Given the description of an element on the screen output the (x, y) to click on. 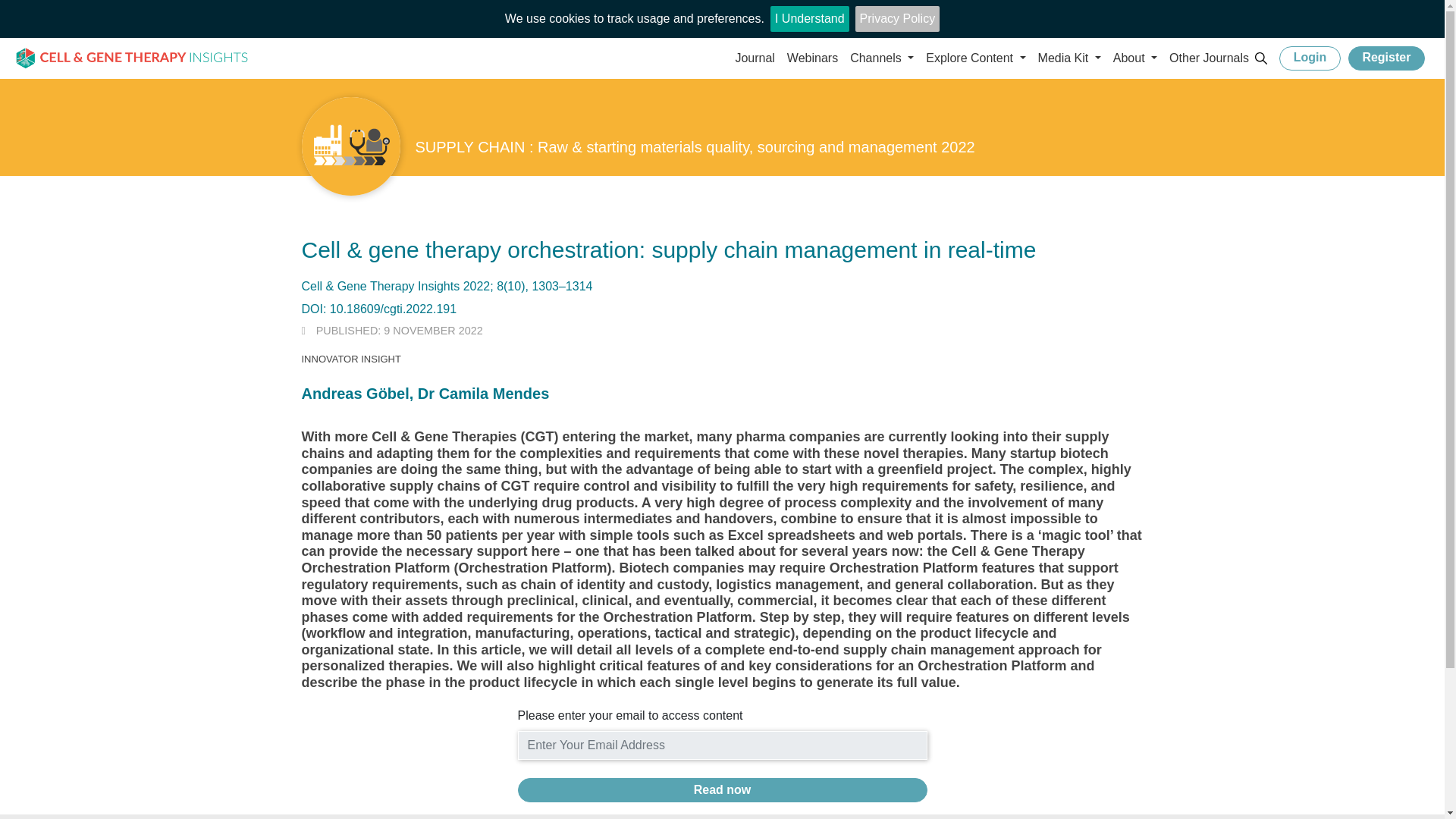
Read now (721, 790)
Journal (754, 57)
Register (1386, 57)
Webinars (812, 57)
Media Kit (1069, 57)
I Understand (809, 18)
Privacy Policy (898, 18)
Explore Content (975, 57)
BioInsights (131, 58)
Channels (882, 57)
Other Journals (1209, 57)
About (1134, 57)
Login (1309, 57)
